Given the description of an element on the screen output the (x, y) to click on. 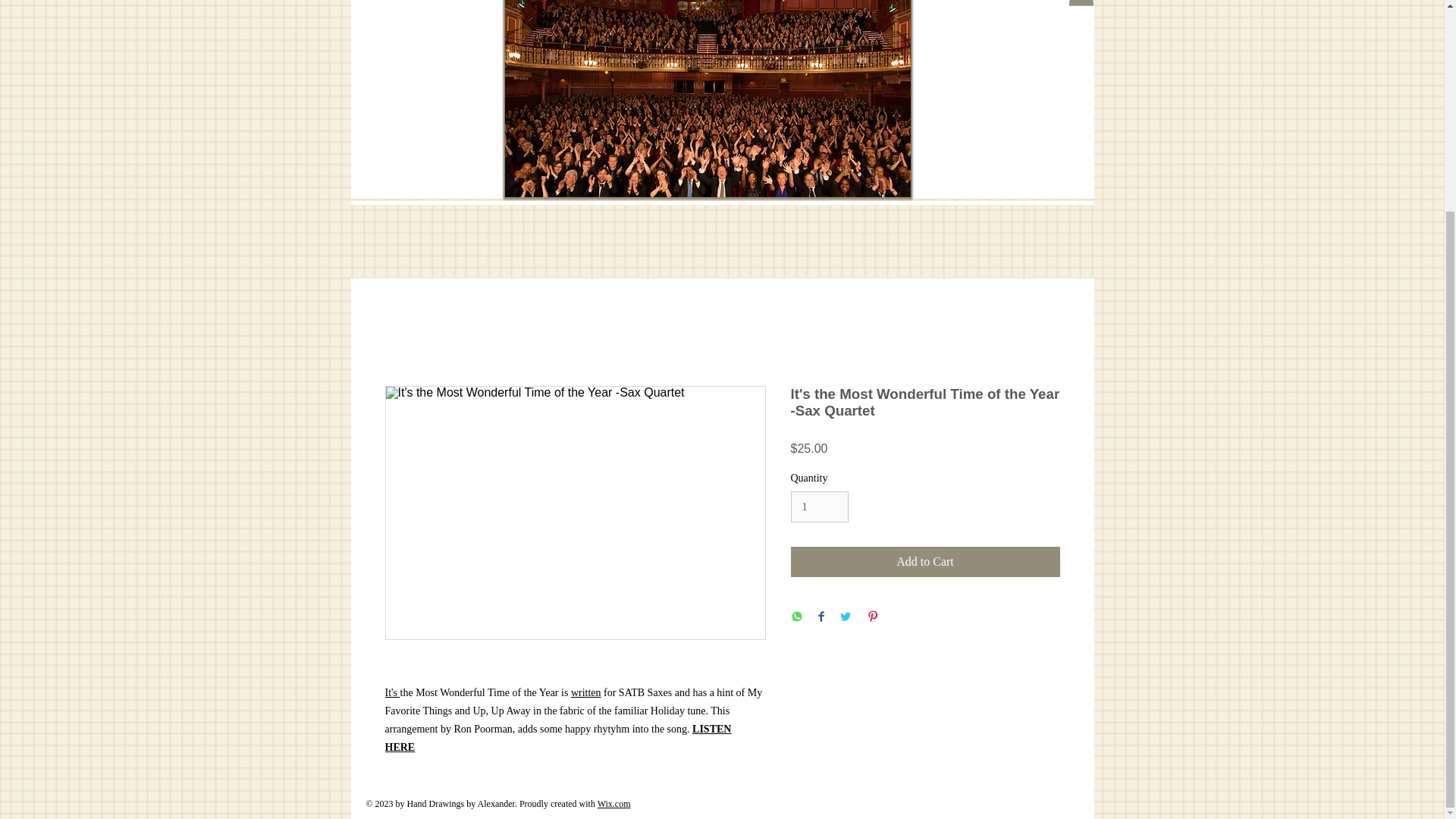
Add to Cart (924, 562)
It's  (392, 692)
1 (818, 506)
written (585, 692)
LISTEN HERE (558, 737)
Wix.com (613, 803)
